Given the description of an element on the screen output the (x, y) to click on. 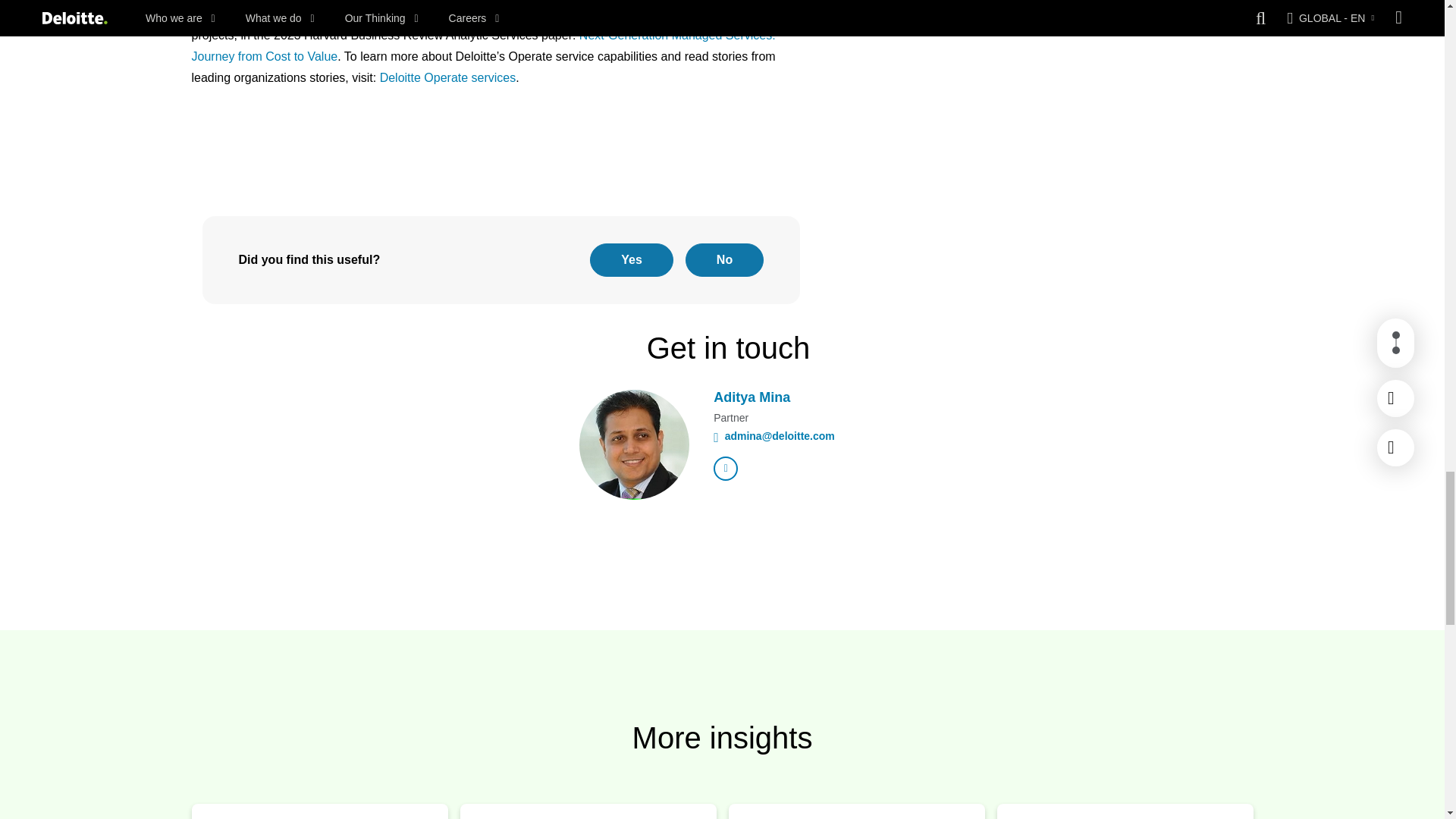
Click here to connect via linkedin (725, 468)
